Given the description of an element on the screen output the (x, y) to click on. 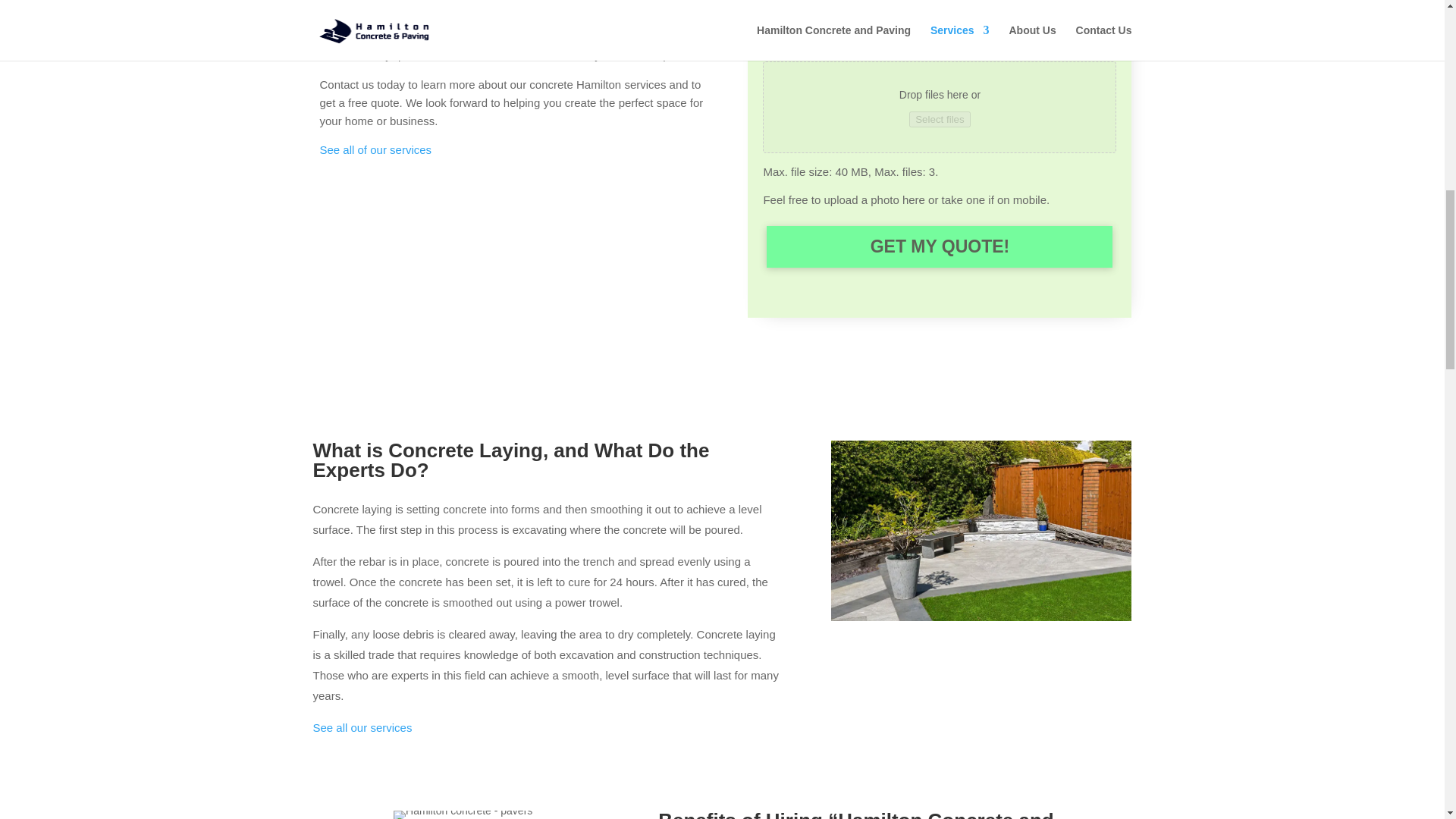
See all our services (362, 727)
GET MY QUOTE! (939, 246)
hamilton-paving-concrete-outdoor-spaces (981, 616)
Select files (938, 119)
GET MY QUOTE! (939, 246)
hamilton-paving-concrete-patio (462, 810)
See all of our services (376, 149)
